Given the description of an element on the screen output the (x, y) to click on. 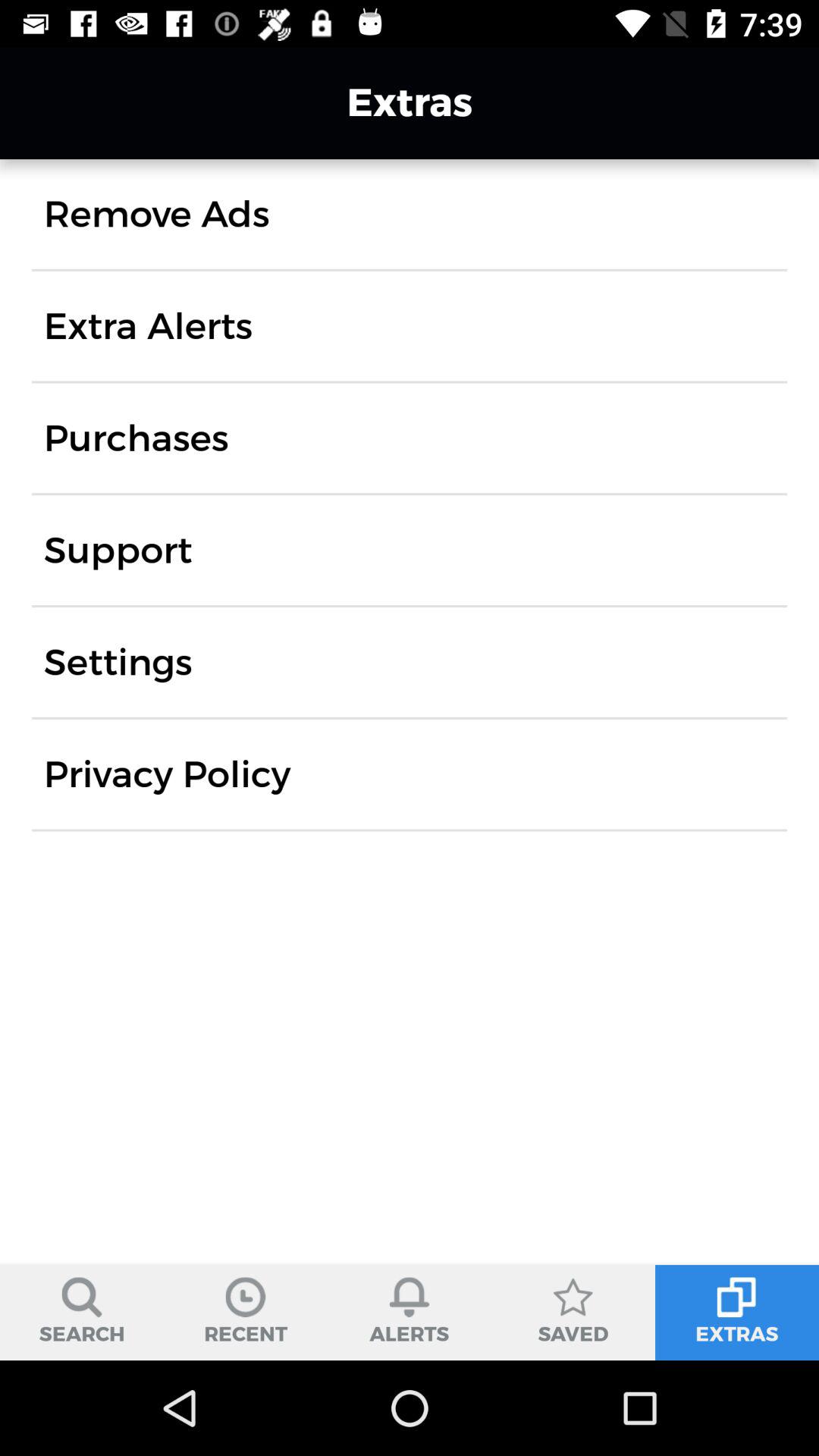
jump to the remove ads item (156, 214)
